Given the description of an element on the screen output the (x, y) to click on. 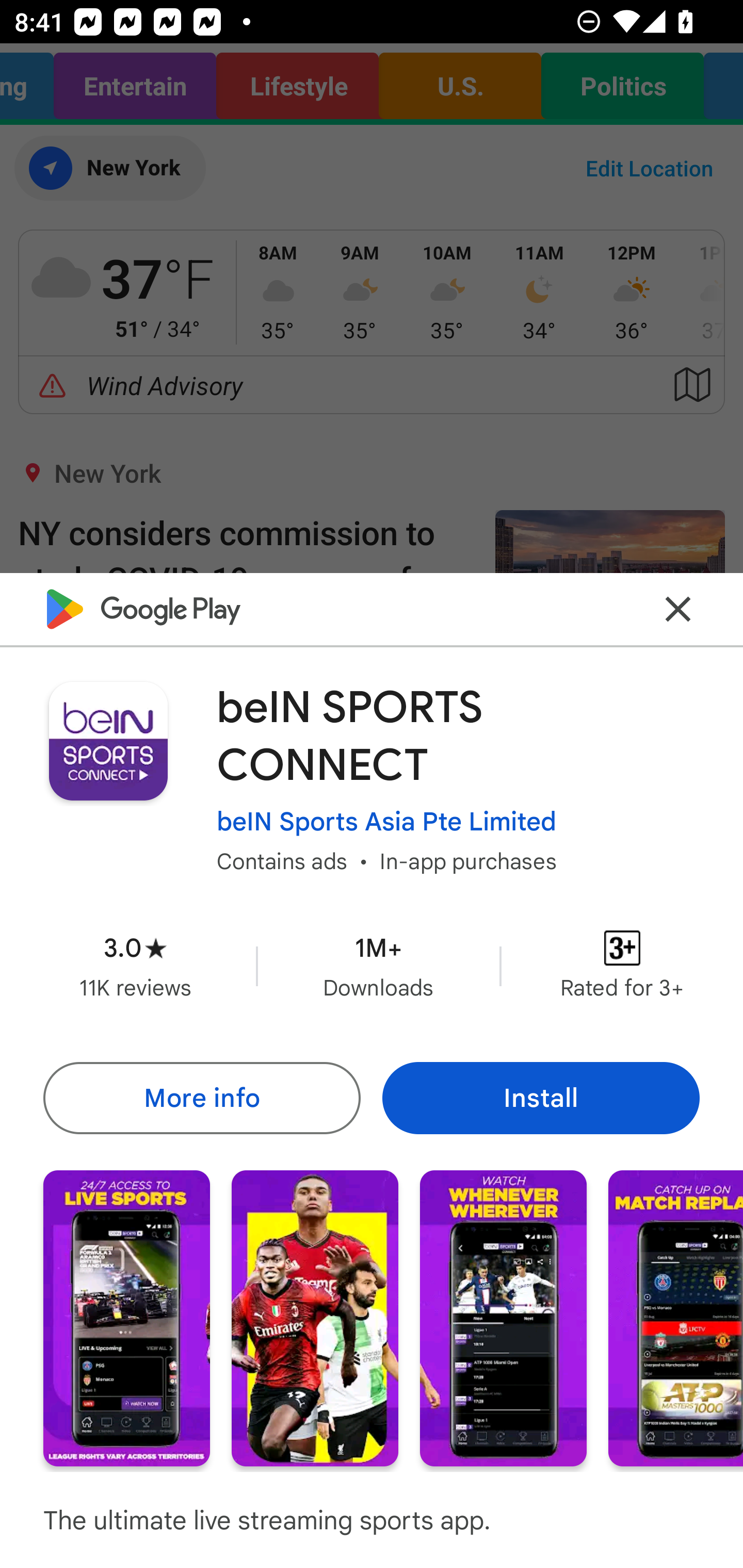
Close (677, 609)
Image of app or game icon for beIN SPORTS CONNECT (108, 740)
beIN Sports Asia Pte Limited (386, 822)
More info (201, 1097)
Install (540, 1097)
Screenshot "1" of "6" (126, 1317)
Screenshot "2" of "6" (314, 1317)
Screenshot "3" of "6" (502, 1317)
Screenshot "4" of "6" (675, 1317)
